Given the description of an element on the screen output the (x, y) to click on. 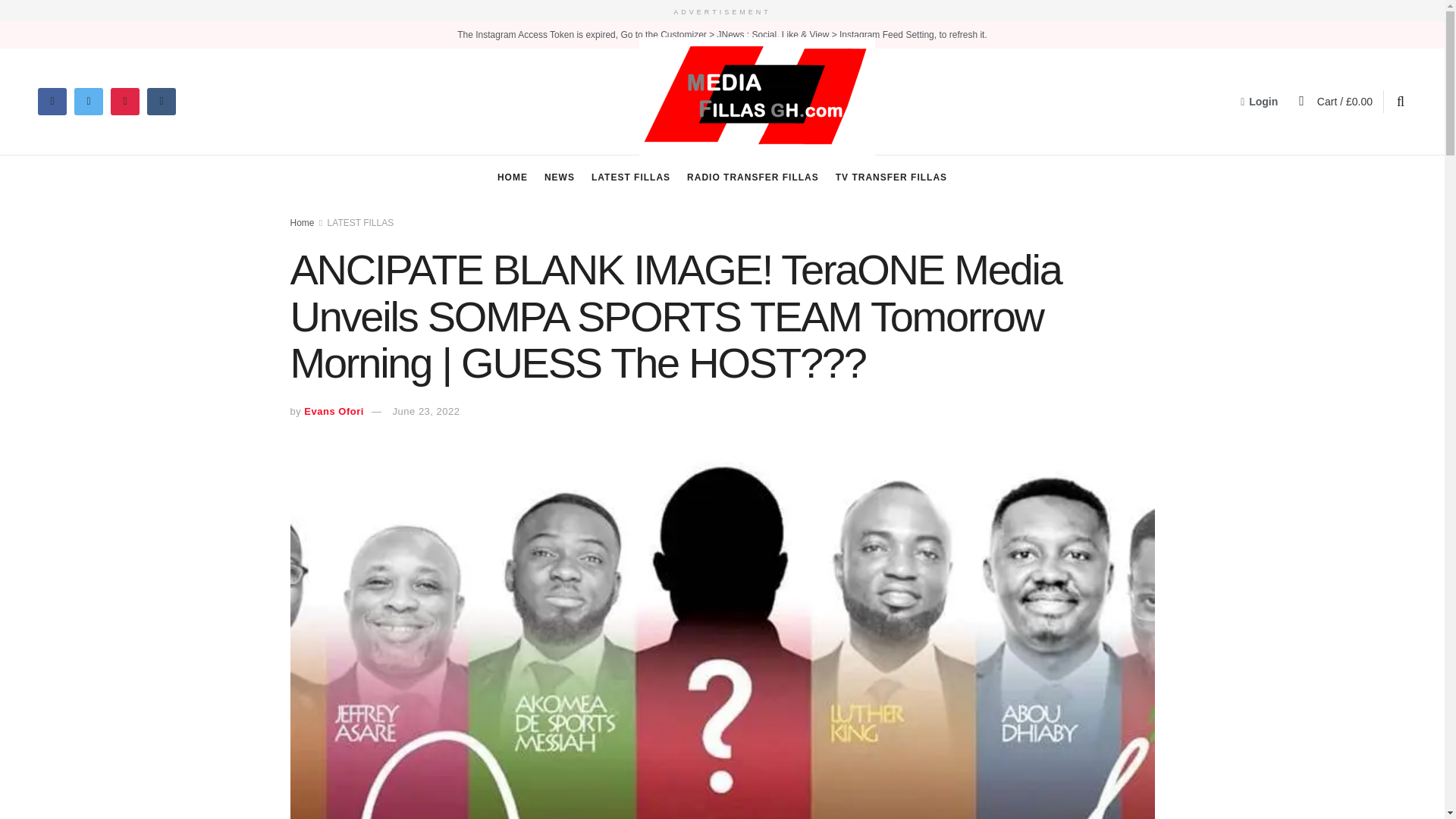
LATEST FILLAS (360, 222)
Login (1259, 101)
TV TRANSFER FILLAS (891, 177)
RADIO TRANSFER FILLAS (752, 177)
Evans Ofori (333, 410)
LATEST FILLAS (630, 177)
June 23, 2022 (426, 410)
Home (301, 222)
